Given the description of an element on the screen output the (x, y) to click on. 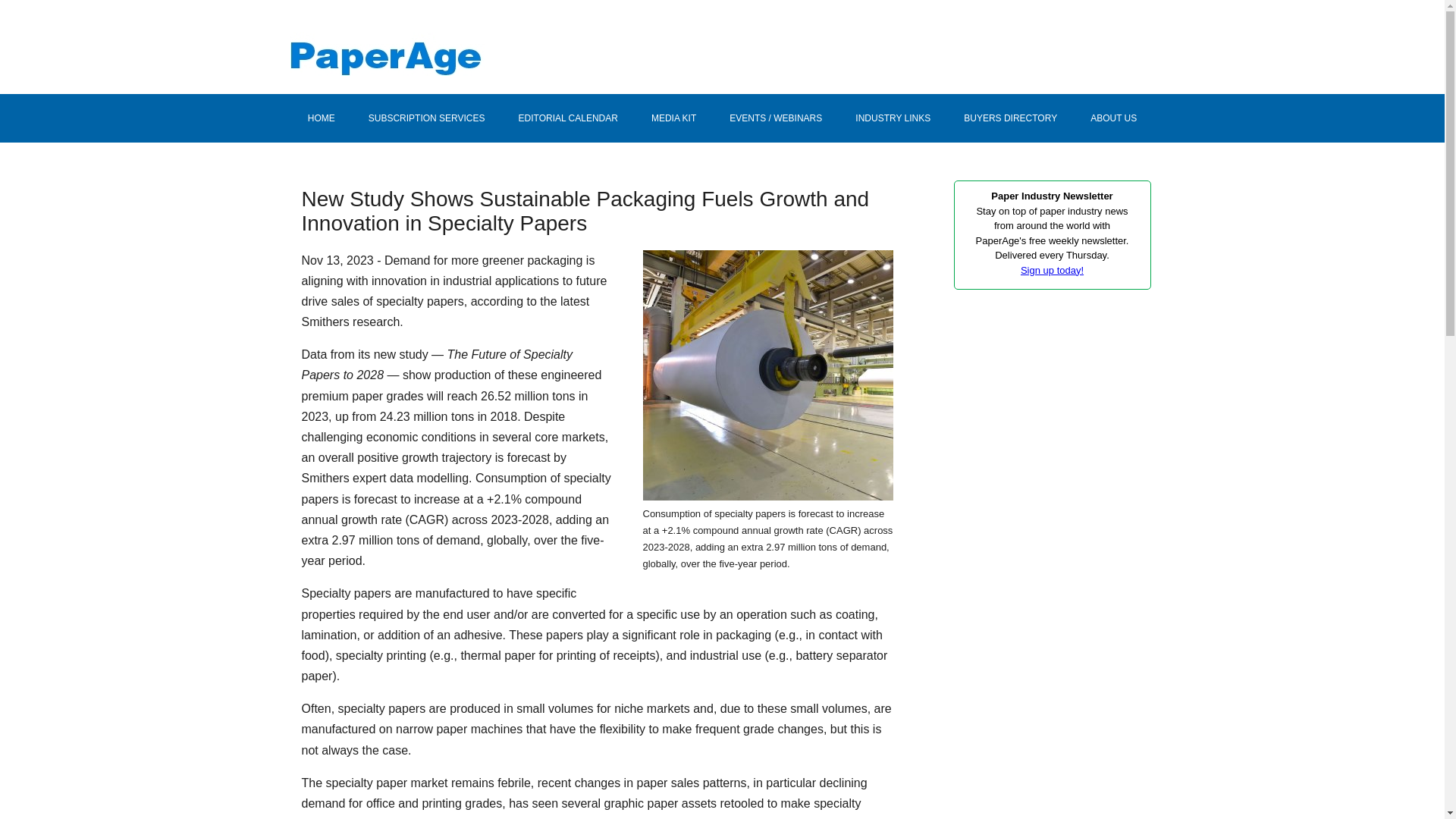
EDITORIAL CALENDAR (568, 118)
Sign up today! (1051, 269)
MEDIA KIT (673, 118)
SUBSCRIPTION SERVICES (426, 118)
INDUSTRY LINKS (892, 118)
PaperAge logo (433, 41)
specialty papers (768, 375)
HOME (321, 118)
ABOUT US (1113, 118)
BUYERS DIRECTORY (1010, 118)
